Given the description of an element on the screen output the (x, y) to click on. 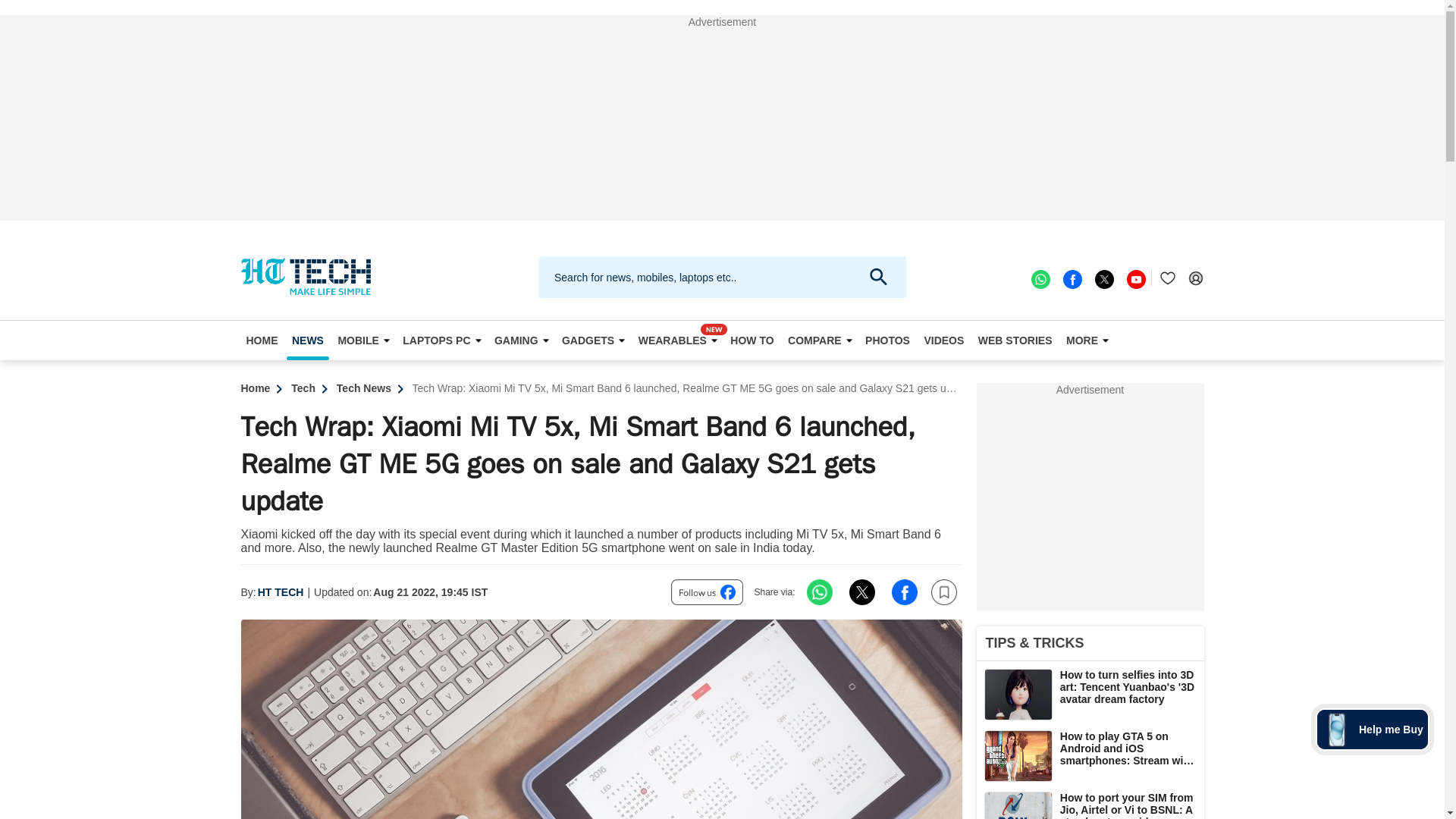
Get to know more about News from India and around the world. (307, 340)
HOW TO (751, 340)
GAMING (521, 340)
GADGETS (592, 340)
twitter (1103, 278)
LAPTOPS PC (440, 340)
NEWS (307, 340)
youtube (1134, 278)
HOME (262, 340)
